Given the description of an element on the screen output the (x, y) to click on. 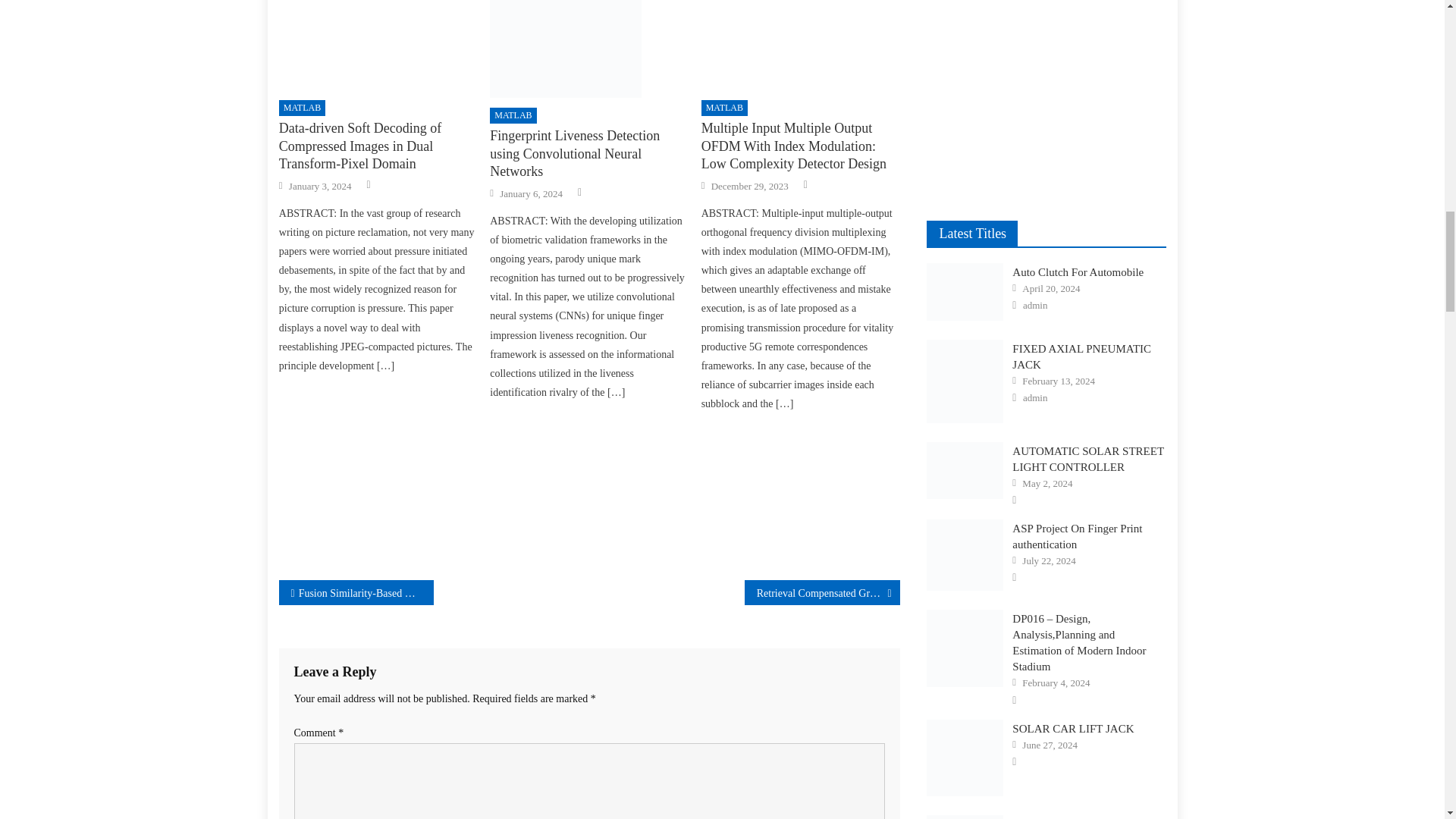
FIXED AXIAL PNEUMATIC JACK (964, 381)
Advertisement (378, 45)
Advertisement (800, 45)
AUTOMATIC SOLAR STREET LIGHT CONTROLLER (964, 470)
Advertisement (1046, 93)
Advertisement (378, 481)
Auto Clutch For Automobile (964, 291)
ASP Project On Finger Print authentication (964, 554)
